Given the description of an element on the screen output the (x, y) to click on. 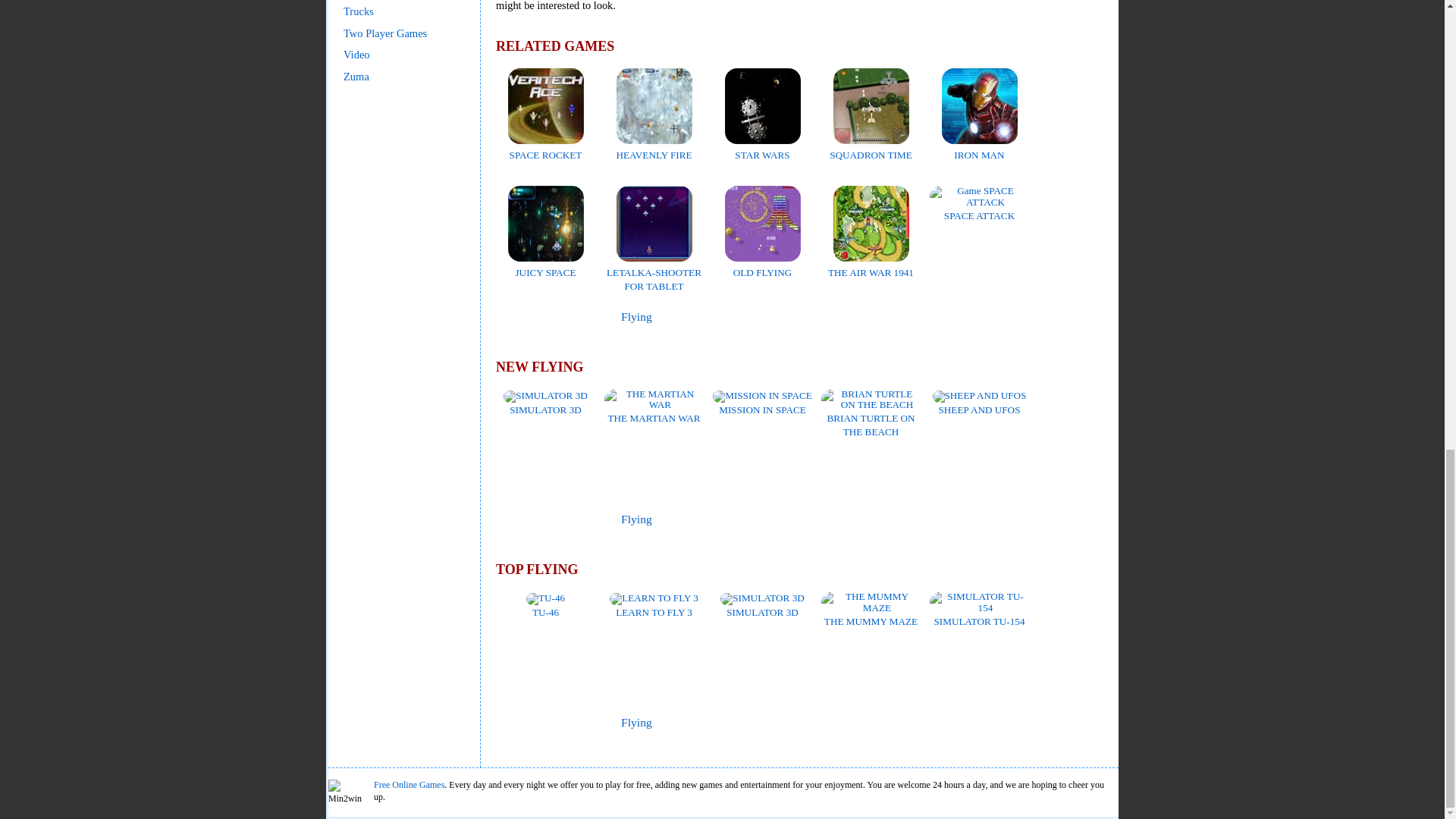
SIMULATOR 3D (545, 402)
BRIAN TURTLE ON THE BEACH (870, 417)
MISSION IN SPACE (762, 402)
LETALKA-SHOOTER FOR TABLET (654, 272)
All games (536, 316)
SIMULATOR 3D (762, 605)
SQUADRON TIME (870, 147)
SPACE ROCKET (545, 147)
Flying (636, 316)
THE MARTIAN WAR (653, 411)
